Given the description of an element on the screen output the (x, y) to click on. 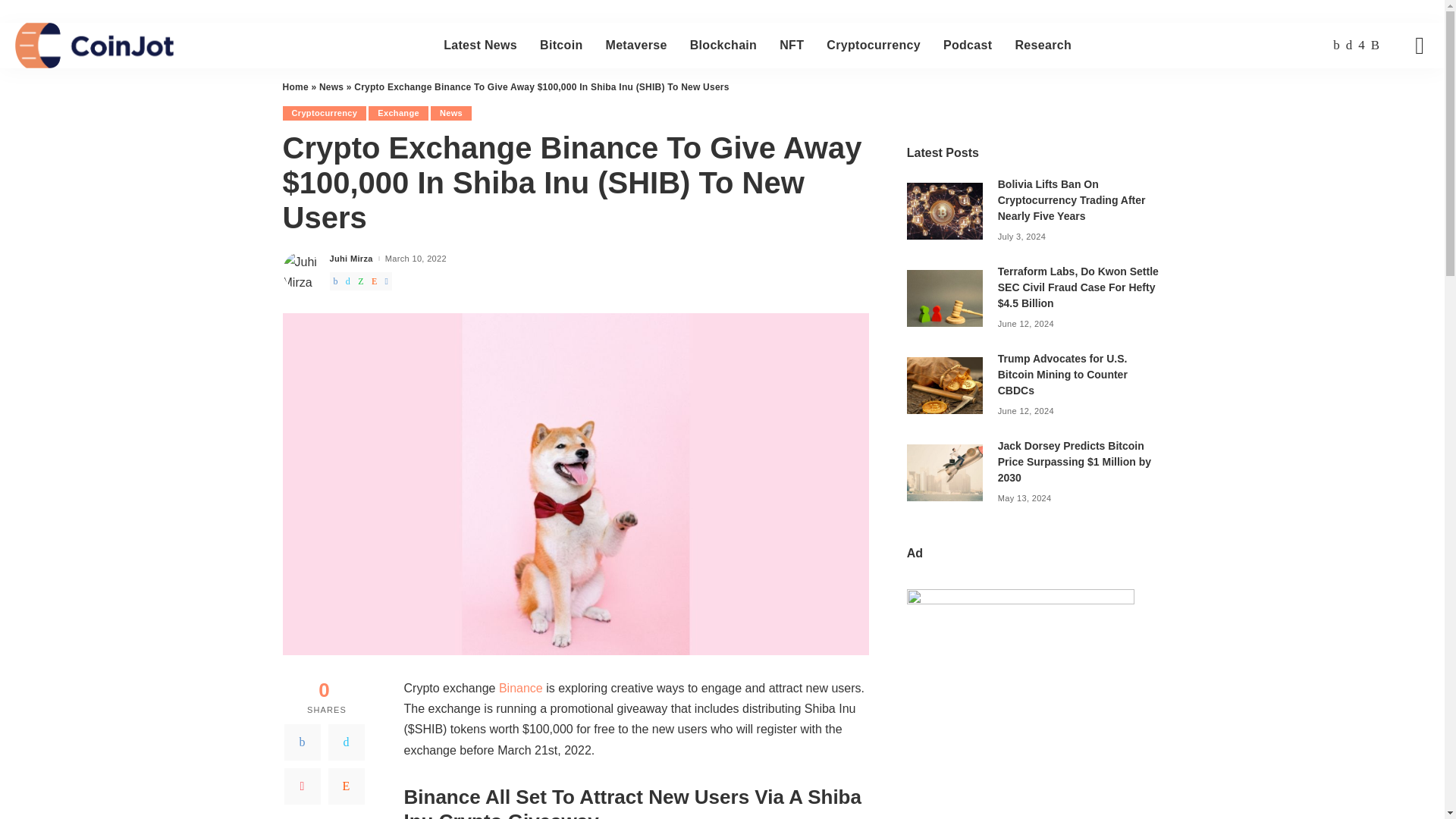
Facebook (1336, 44)
Twitter (1348, 44)
CoinJot (93, 44)
NFT (791, 44)
Podcast (967, 44)
Metaverse (636, 44)
Cryptocurrency (324, 113)
News (330, 86)
Search (1408, 98)
Home (294, 86)
Latest News (480, 44)
Rss (1374, 44)
Blockchain (723, 44)
Research (1043, 44)
Cryptocurrency (873, 44)
